Given the description of an element on the screen output the (x, y) to click on. 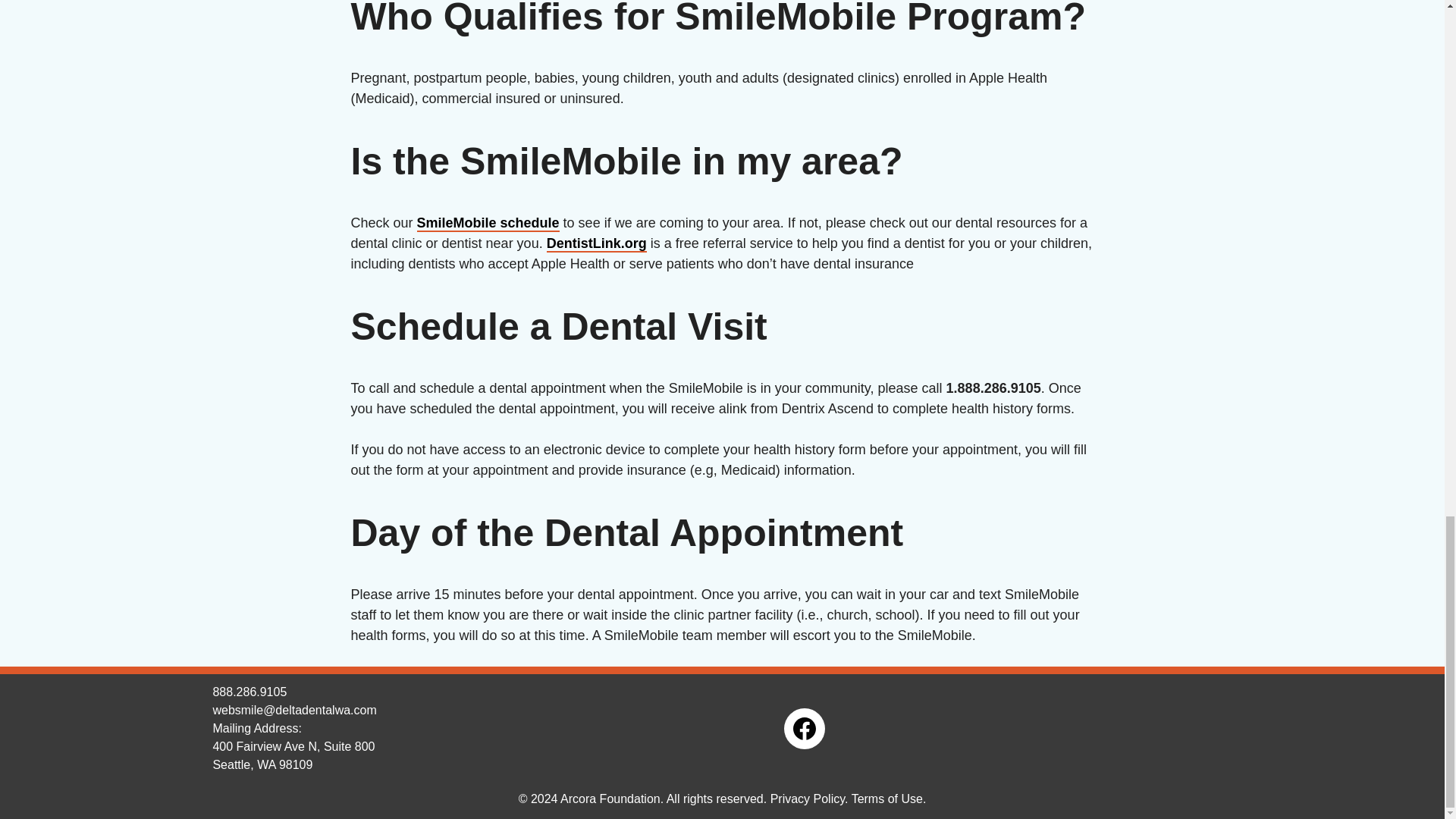
Privacy Policy (807, 798)
DentistLink.org (596, 243)
888.286.9105 (249, 691)
Facebook (804, 728)
1.888.286.9105 (993, 387)
SmileMobile schedule (487, 223)
Terms of Use (887, 798)
